Given the description of an element on the screen output the (x, y) to click on. 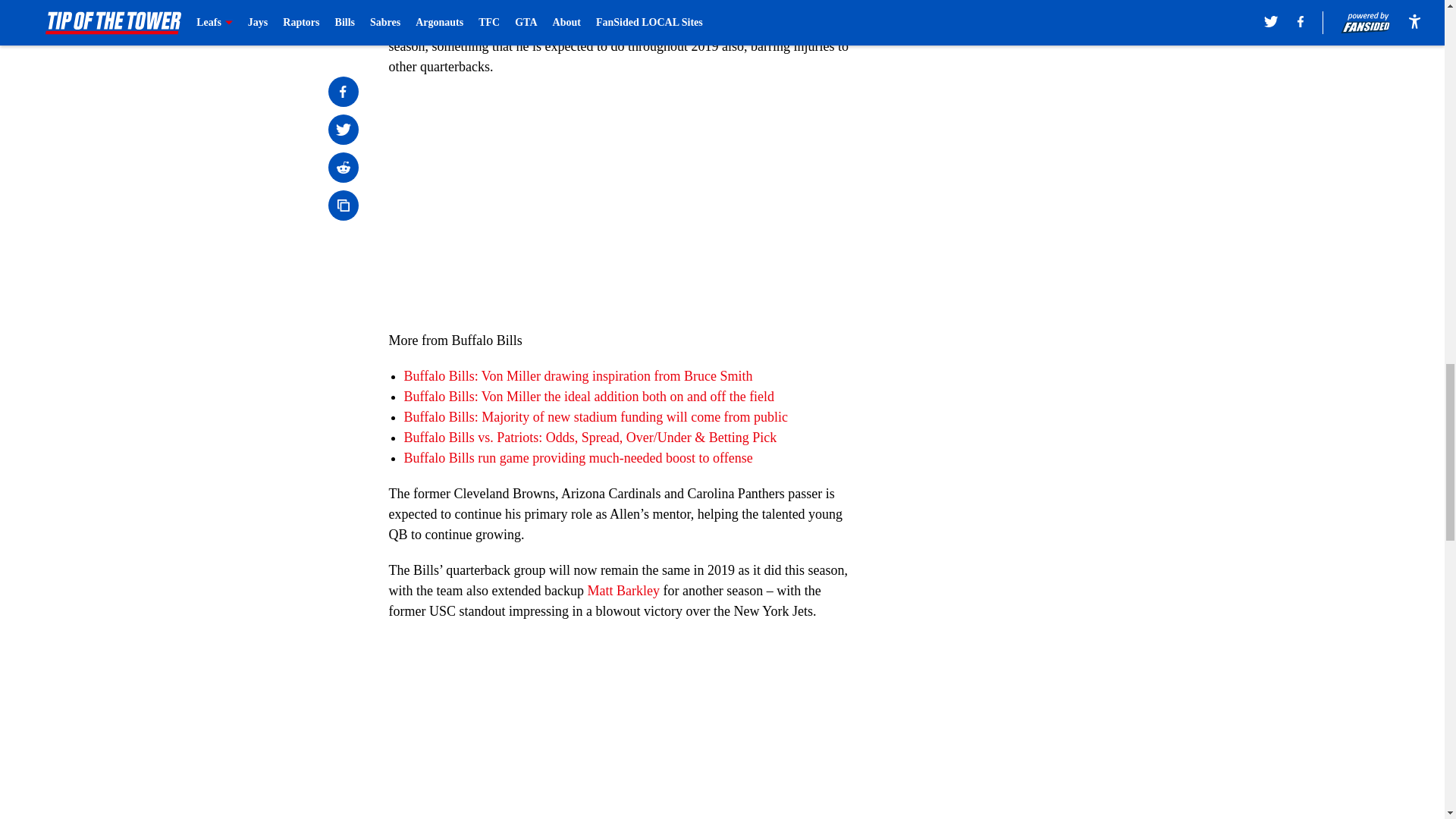
Matt Barkley (622, 590)
